Given the description of an element on the screen output the (x, y) to click on. 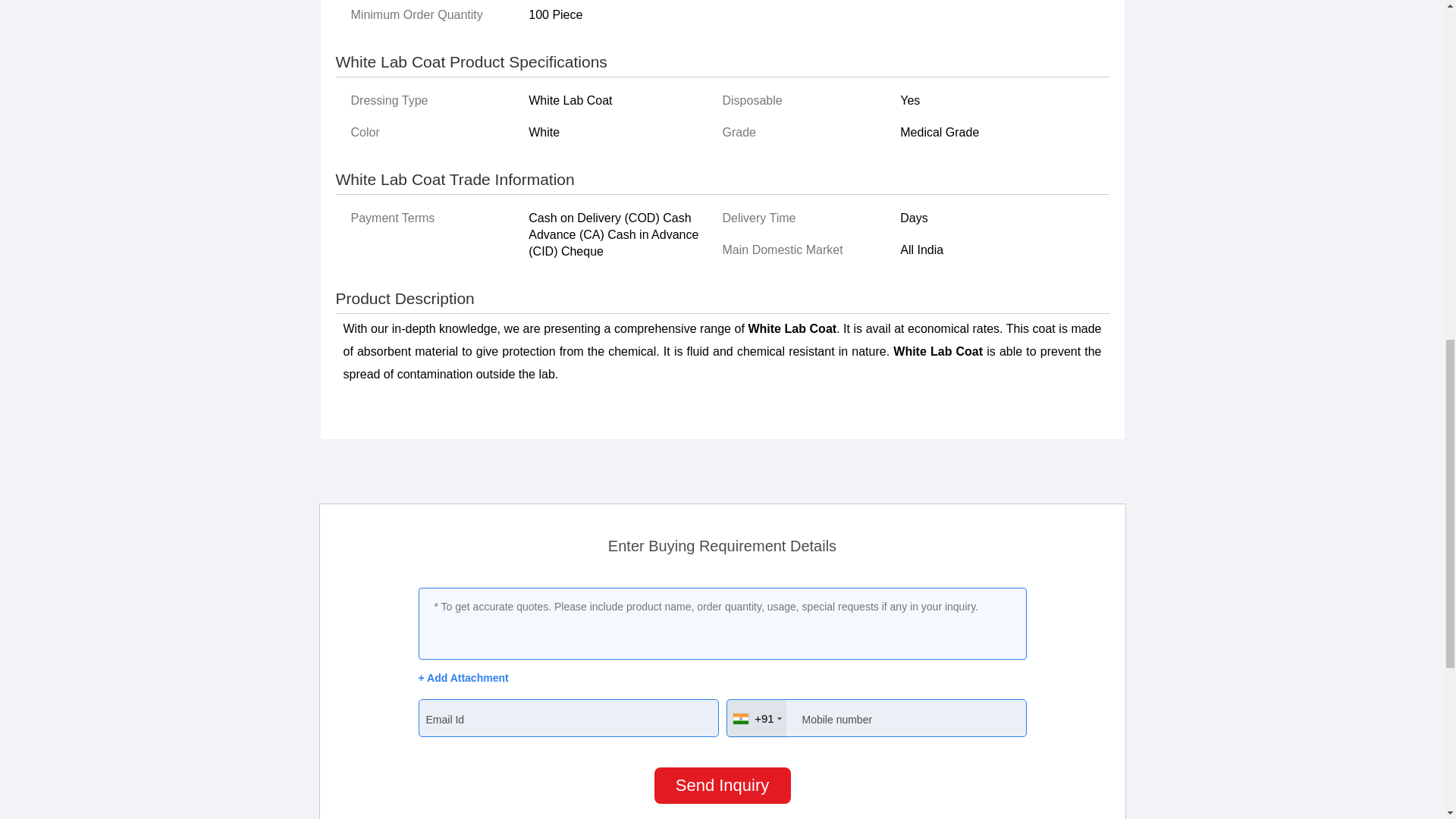
Send Inquiry (721, 785)
